Given the description of an element on the screen output the (x, y) to click on. 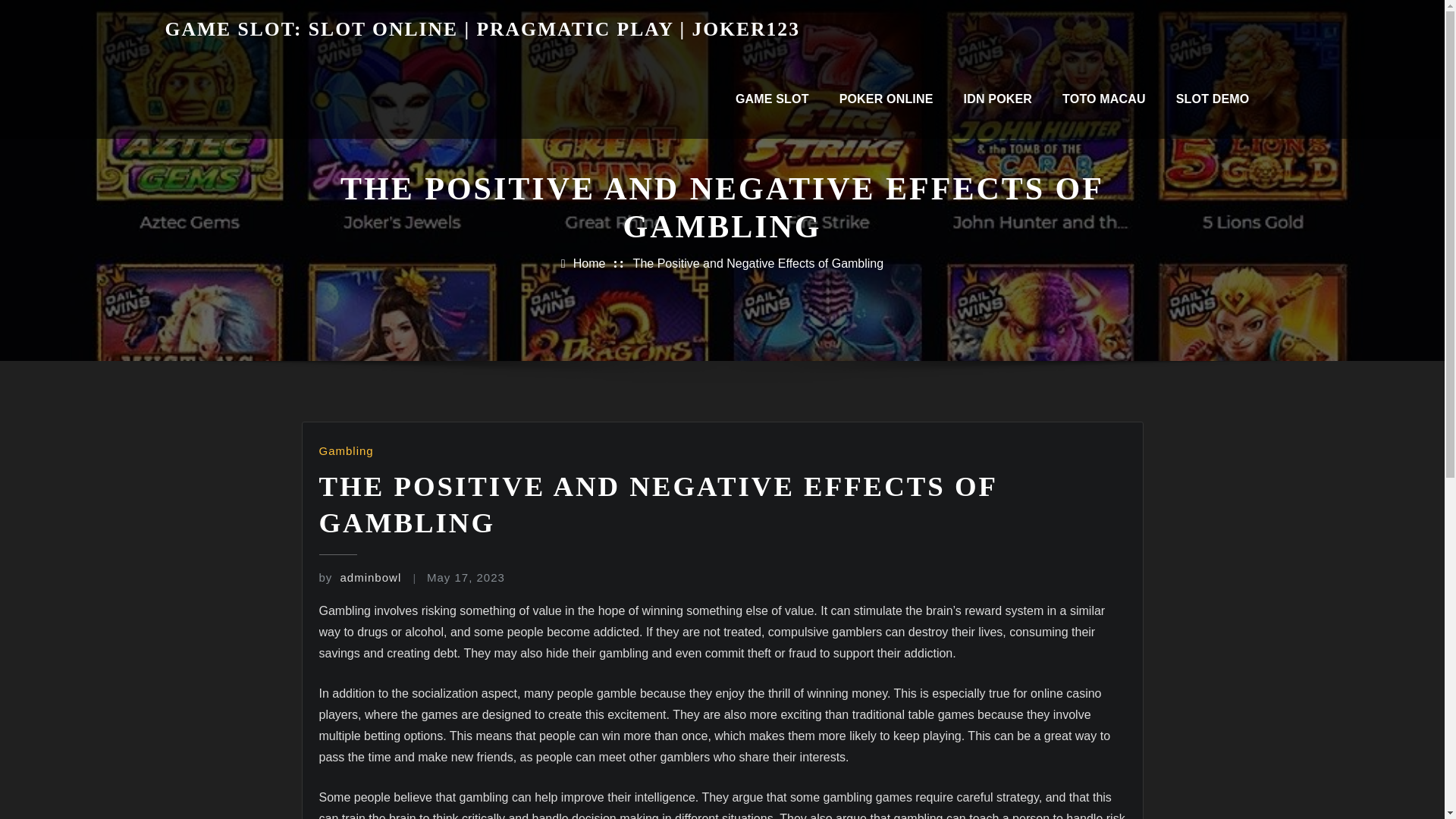
The Positive and Negative Effects of Gambling (758, 263)
POKER ONLINE (886, 99)
TOTO MACAU (1103, 99)
by adminbowl (359, 576)
IDN POKER (998, 99)
May 17, 2023 (465, 576)
Gambling (345, 450)
Home (589, 263)
SLOT DEMO (1212, 99)
GAME SLOT (772, 99)
